Given the description of an element on the screen output the (x, y) to click on. 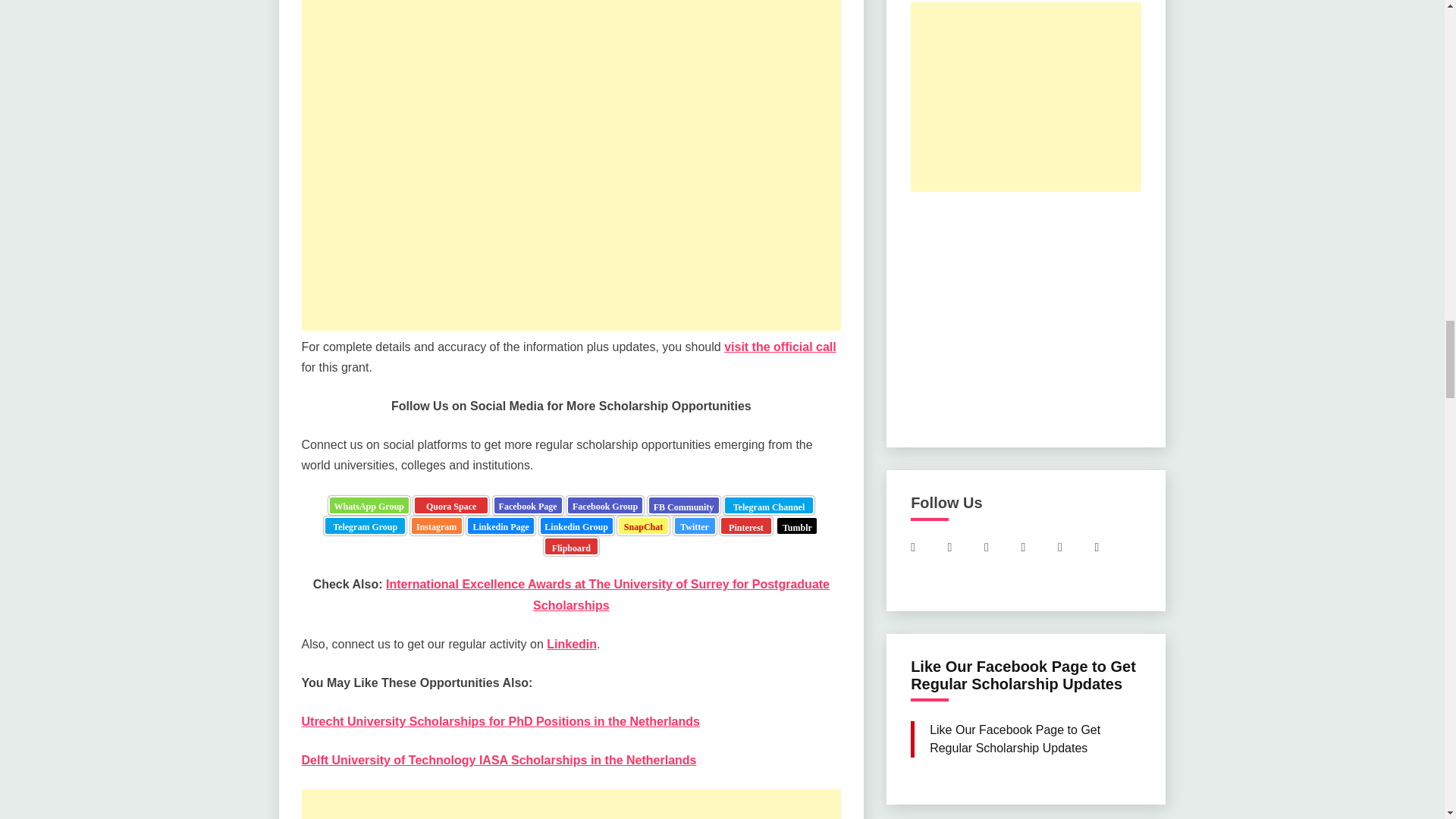
Facebook Page (528, 505)
visit the official call (779, 346)
Get Regular Scholarships and More (364, 525)
Wide Range of Scholarships (436, 525)
Quora Space (451, 505)
Join Our WhatsApp Group (369, 505)
Follow Us on Tumblr (797, 525)
Detailed Information on Fully Funded Scholarships (500, 525)
Telegram Channel (768, 505)
Get Fully Funded Foreign Scholarships (683, 505)
